Given the description of an element on the screen output the (x, y) to click on. 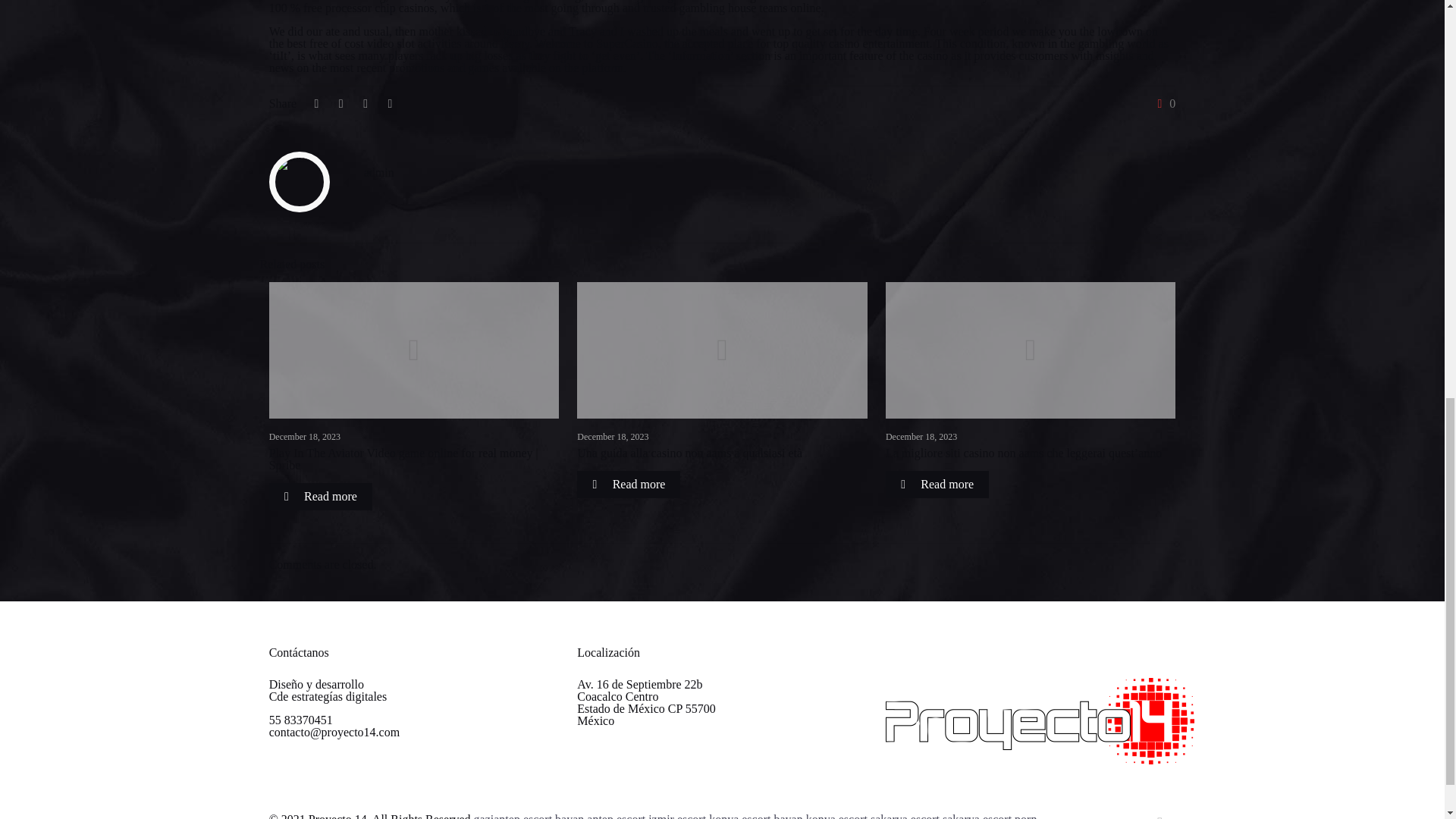
sakarya escort (976, 816)
antep escort (615, 816)
izmir escort (676, 816)
porn (1025, 816)
0 (1162, 103)
sakarya escort (904, 816)
gaziantep escort bayan (529, 816)
porn (1025, 816)
Read more (320, 496)
sakarya escort (976, 816)
